Given the description of an element on the screen output the (x, y) to click on. 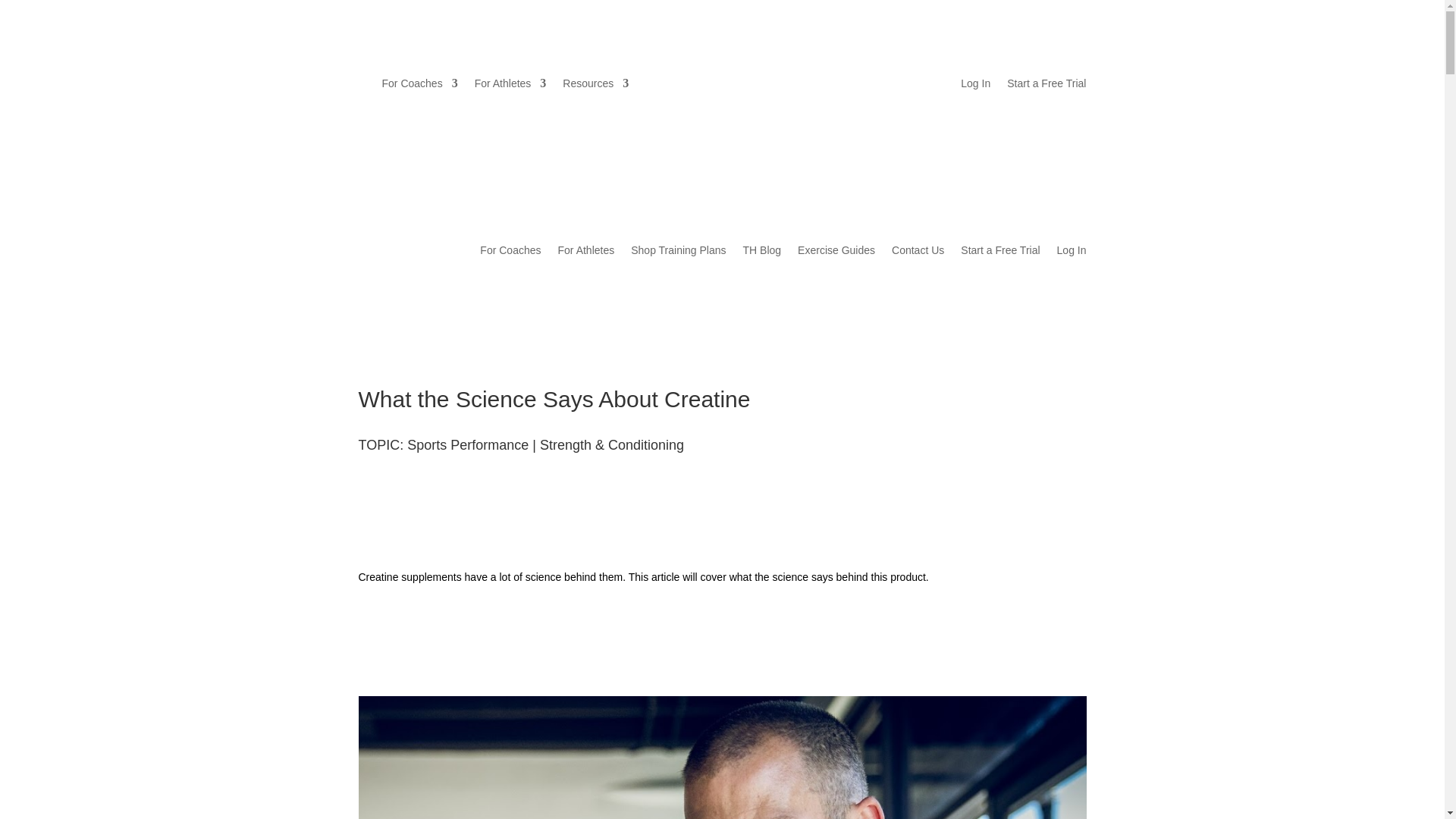
Resources (595, 83)
Contact Us (917, 250)
Log In (975, 86)
For Coaches (510, 250)
Start a Free Trial (999, 250)
Start a Free Trial (1046, 86)
For Athletes (510, 83)
For Coaches (419, 83)
For Athletes (585, 250)
Exercise Guides (836, 250)
